Given the description of an element on the screen output the (x, y) to click on. 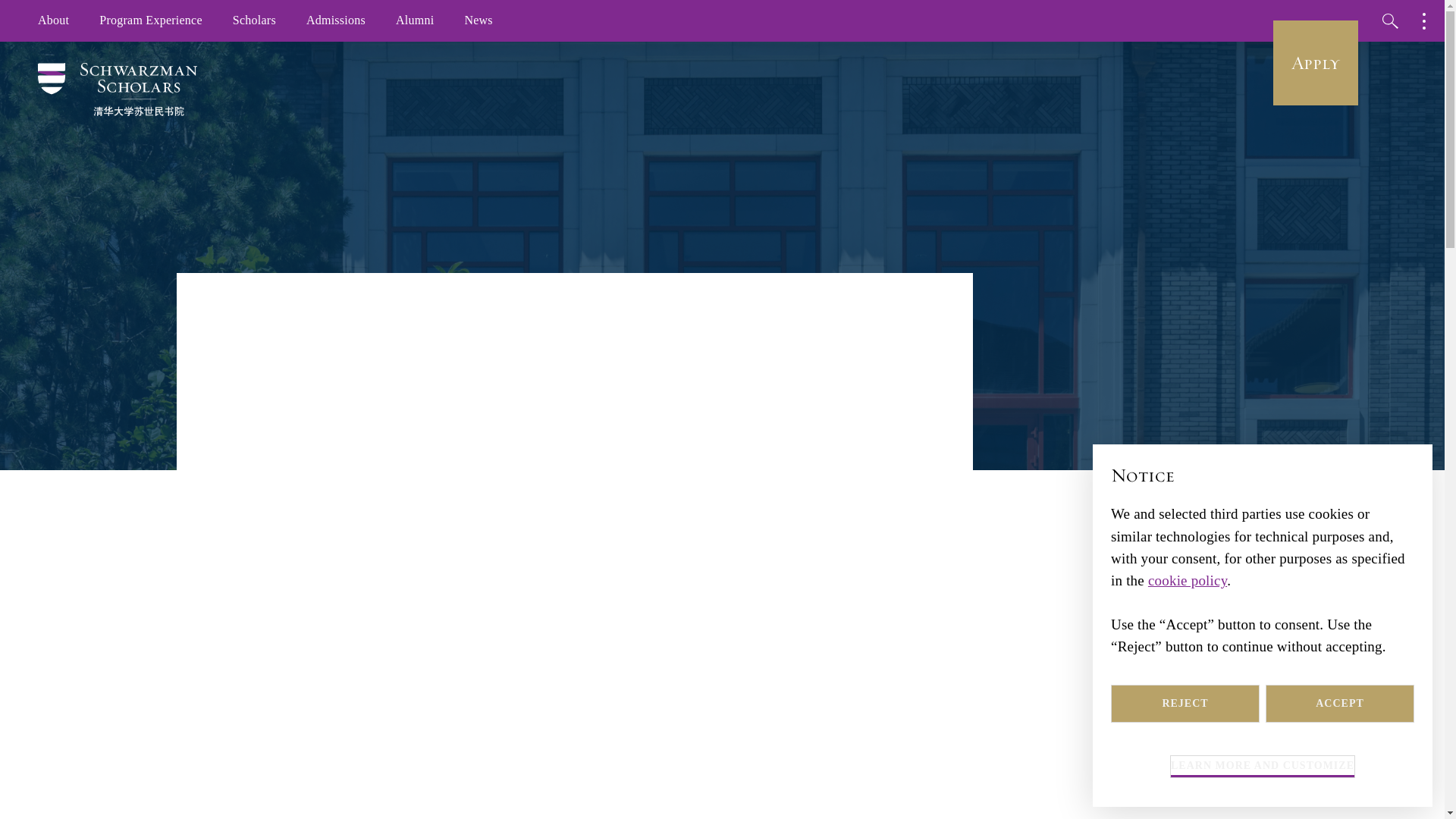
Alumni (414, 20)
About (53, 20)
Program Experience (150, 20)
Apply (1315, 62)
Admissions (335, 20)
News (477, 20)
Scholars (253, 20)
